Given the description of an element on the screen output the (x, y) to click on. 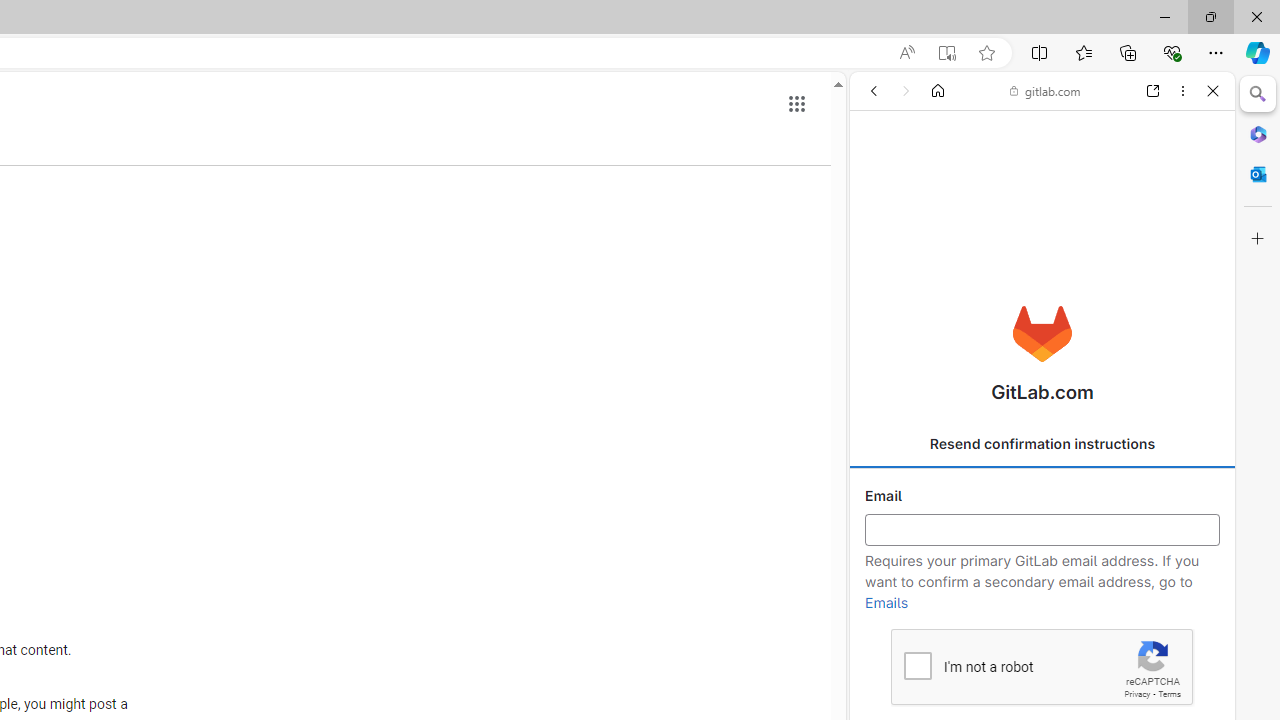
Resend confirmation instructions (1042, 443)
Login (1042, 494)
ALL   (881, 228)
Register Now (1042, 445)
